Given the description of an element on the screen output the (x, y) to click on. 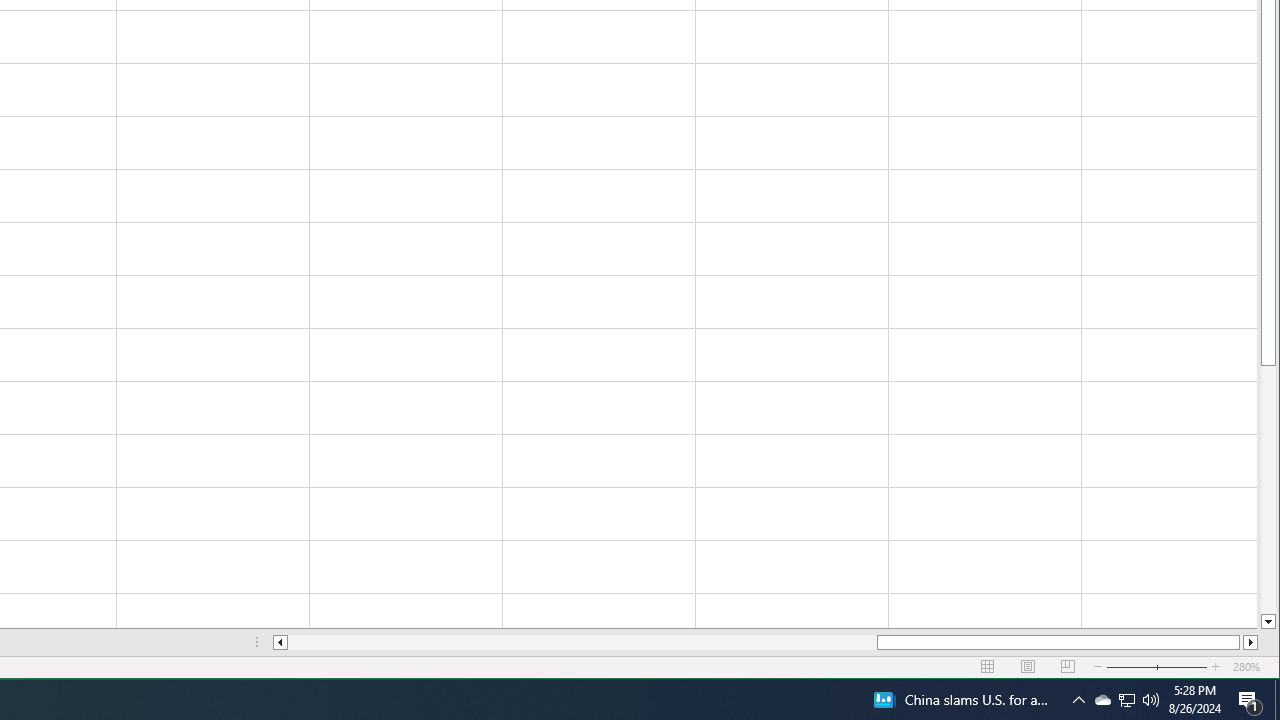
Notification Chevron (1078, 699)
Show desktop (1277, 699)
